Given the description of an element on the screen output the (x, y) to click on. 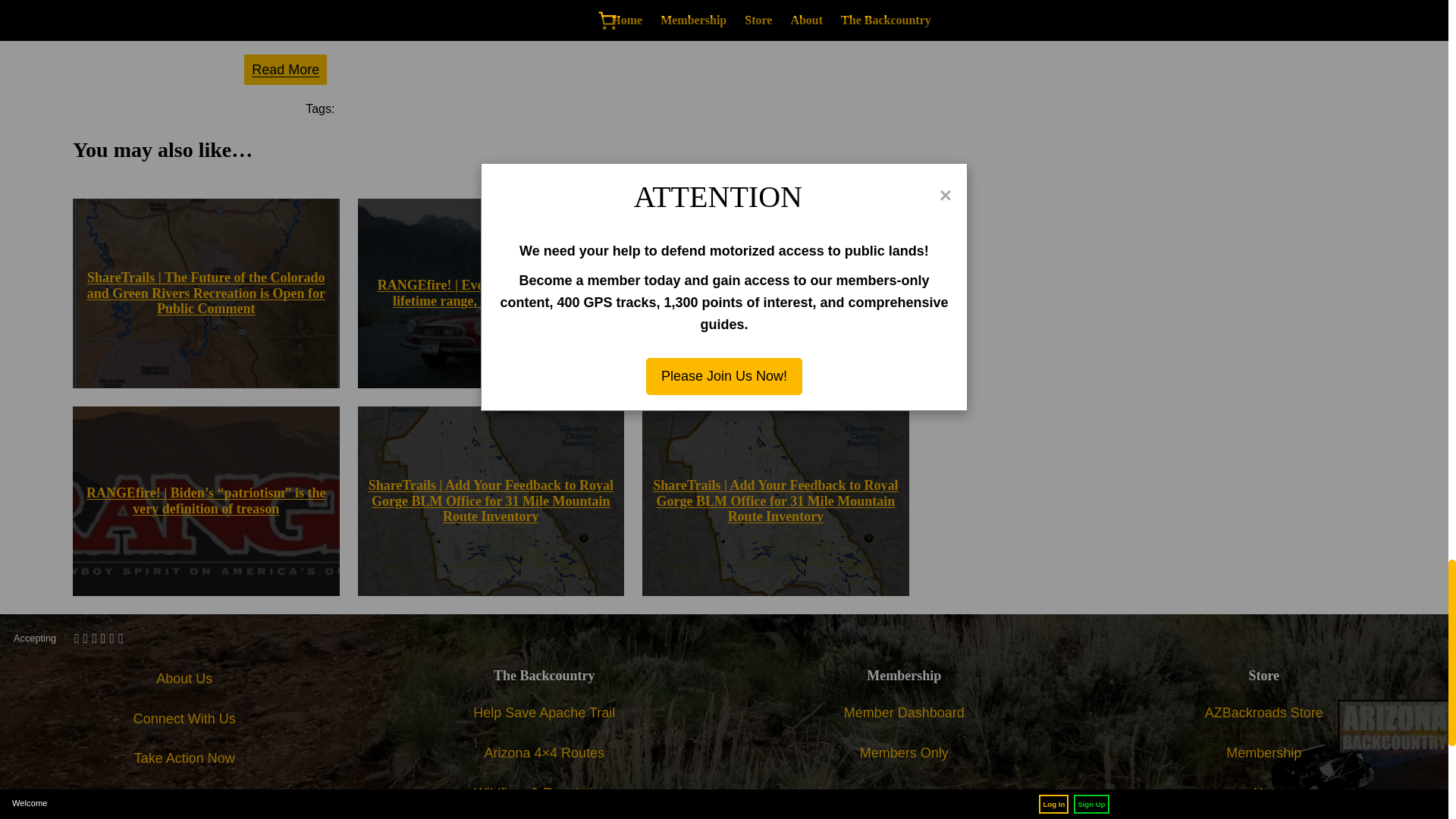
Read More (285, 69)
About Us (183, 679)
Take Action Now (183, 758)
Connect With Us (184, 719)
